Given the description of an element on the screen output the (x, y) to click on. 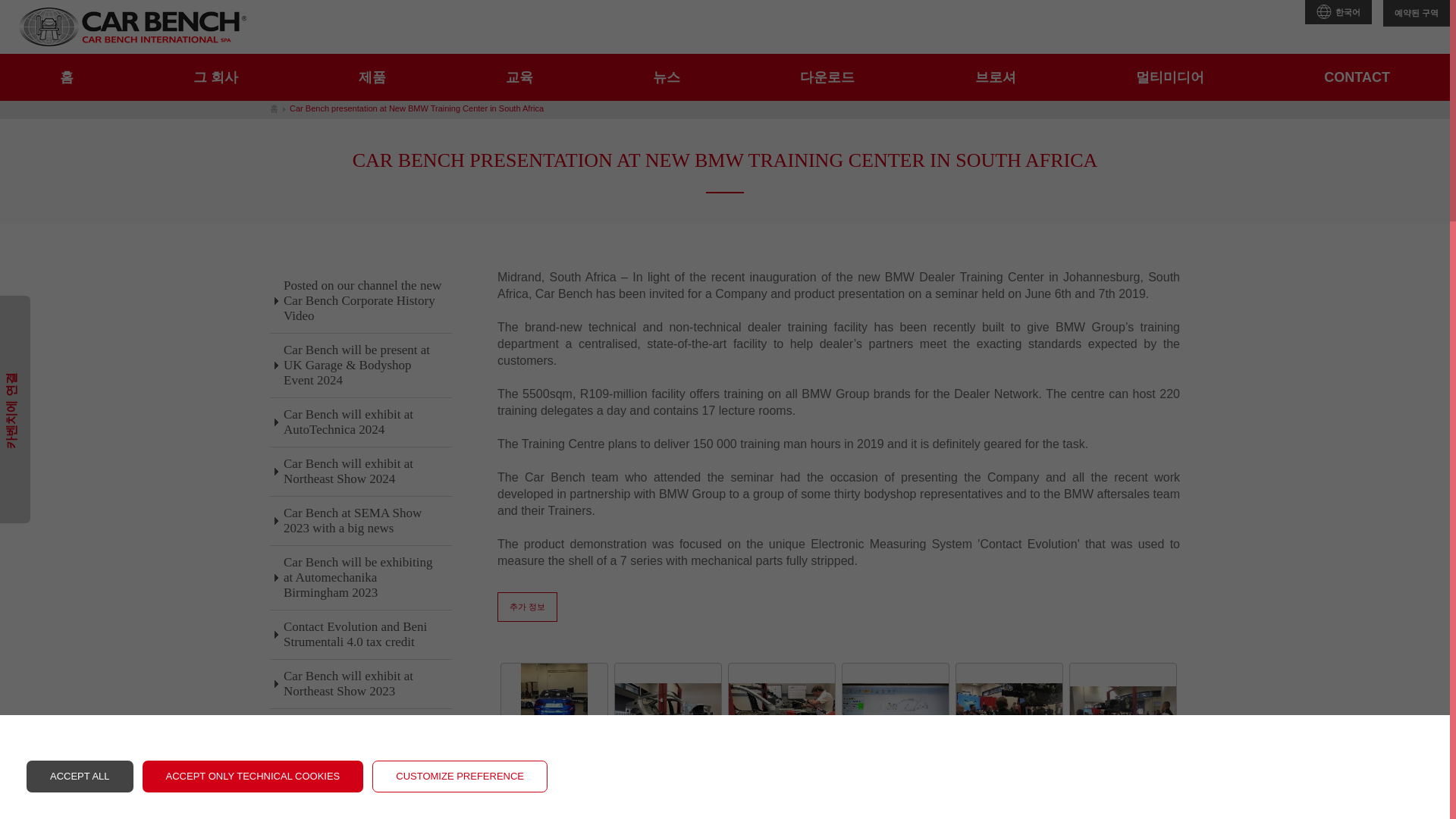
CarBench International Home (132, 25)
CarBench International Home (66, 77)
